Given the description of an element on the screen output the (x, y) to click on. 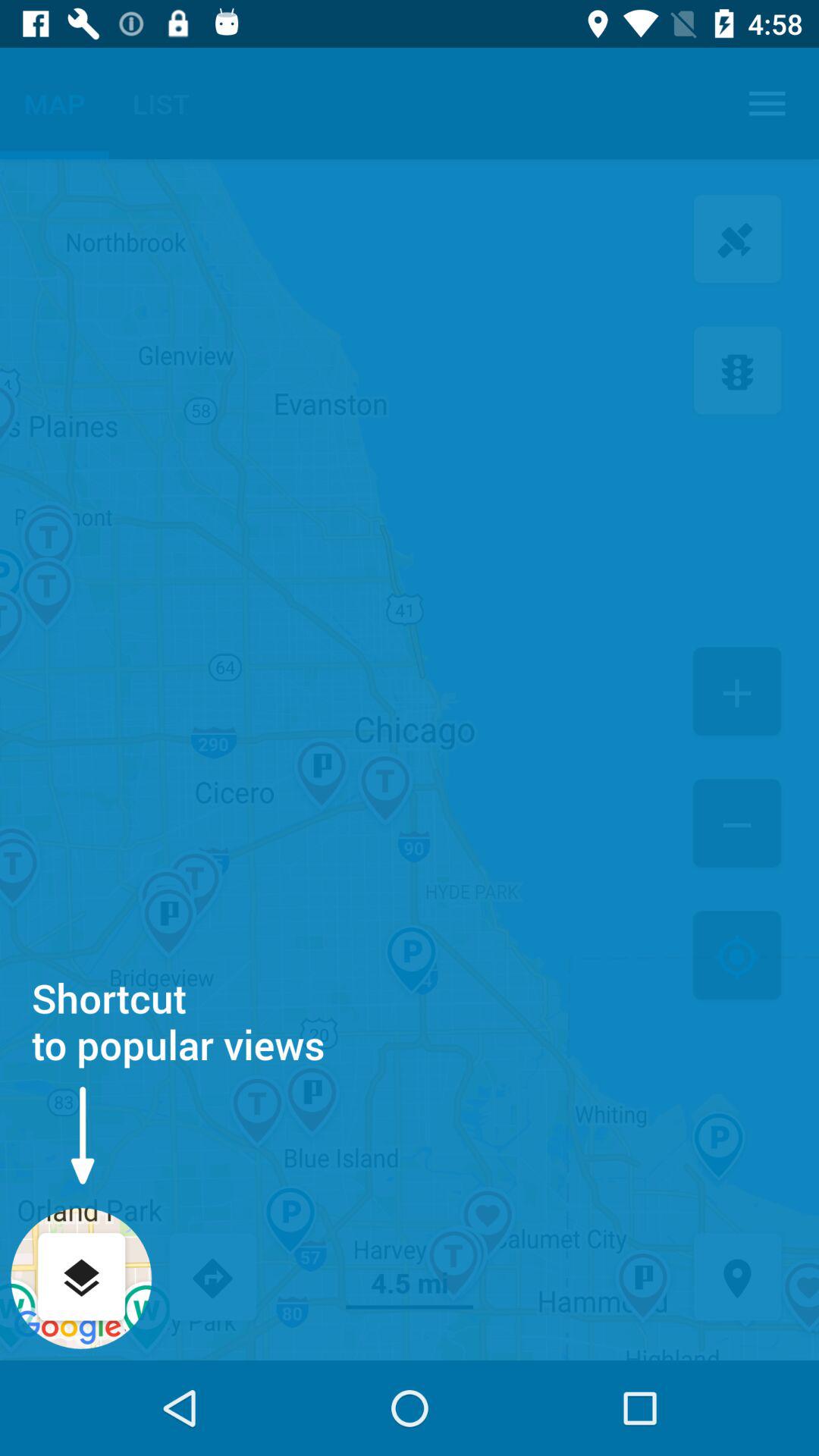
click item at the center (409, 759)
